Given the description of an element on the screen output the (x, y) to click on. 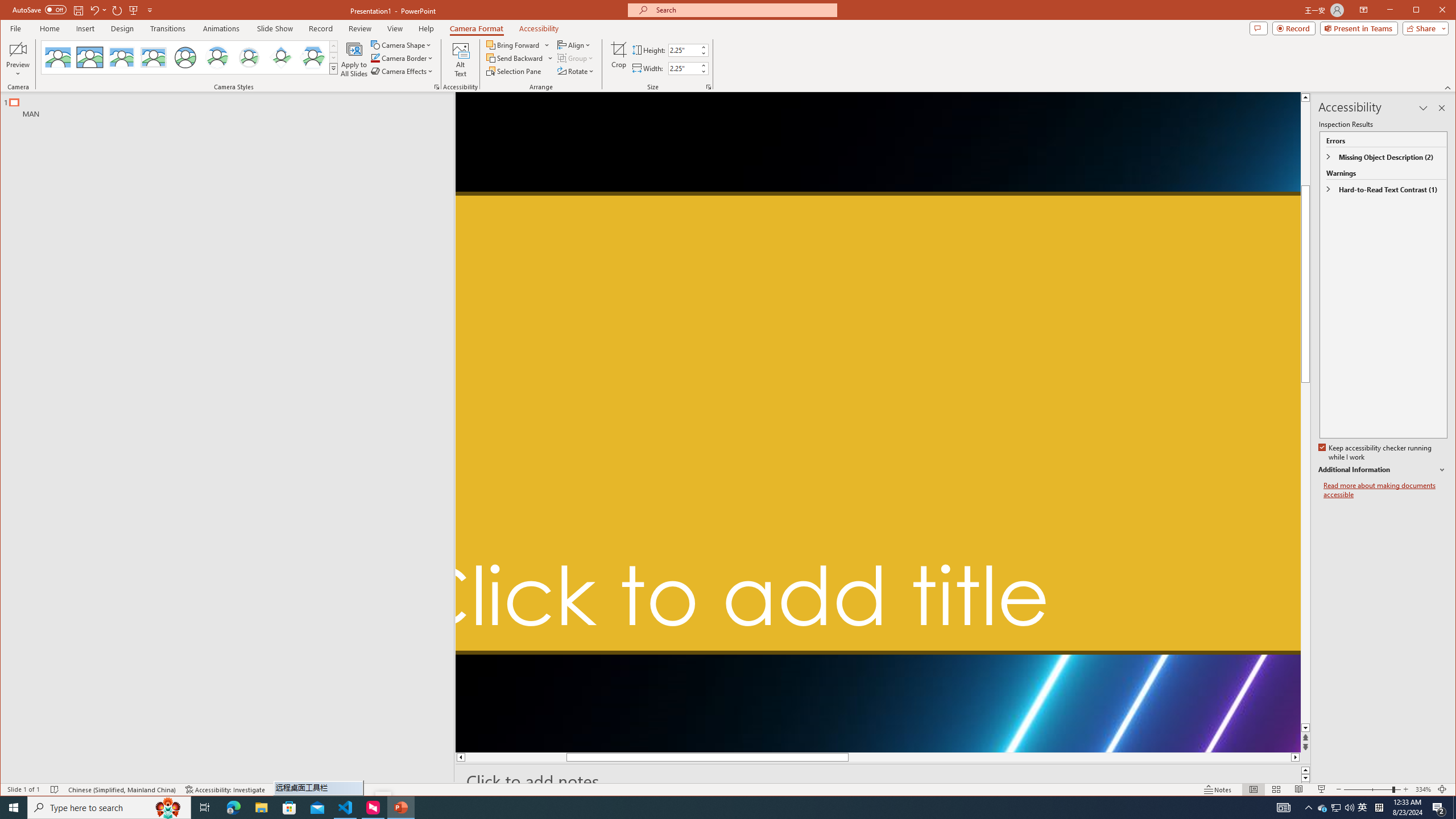
Maximize (1432, 11)
Read more about making documents accessible (1385, 489)
Selection Pane... (514, 70)
